Given the description of an element on the screen output the (x, y) to click on. 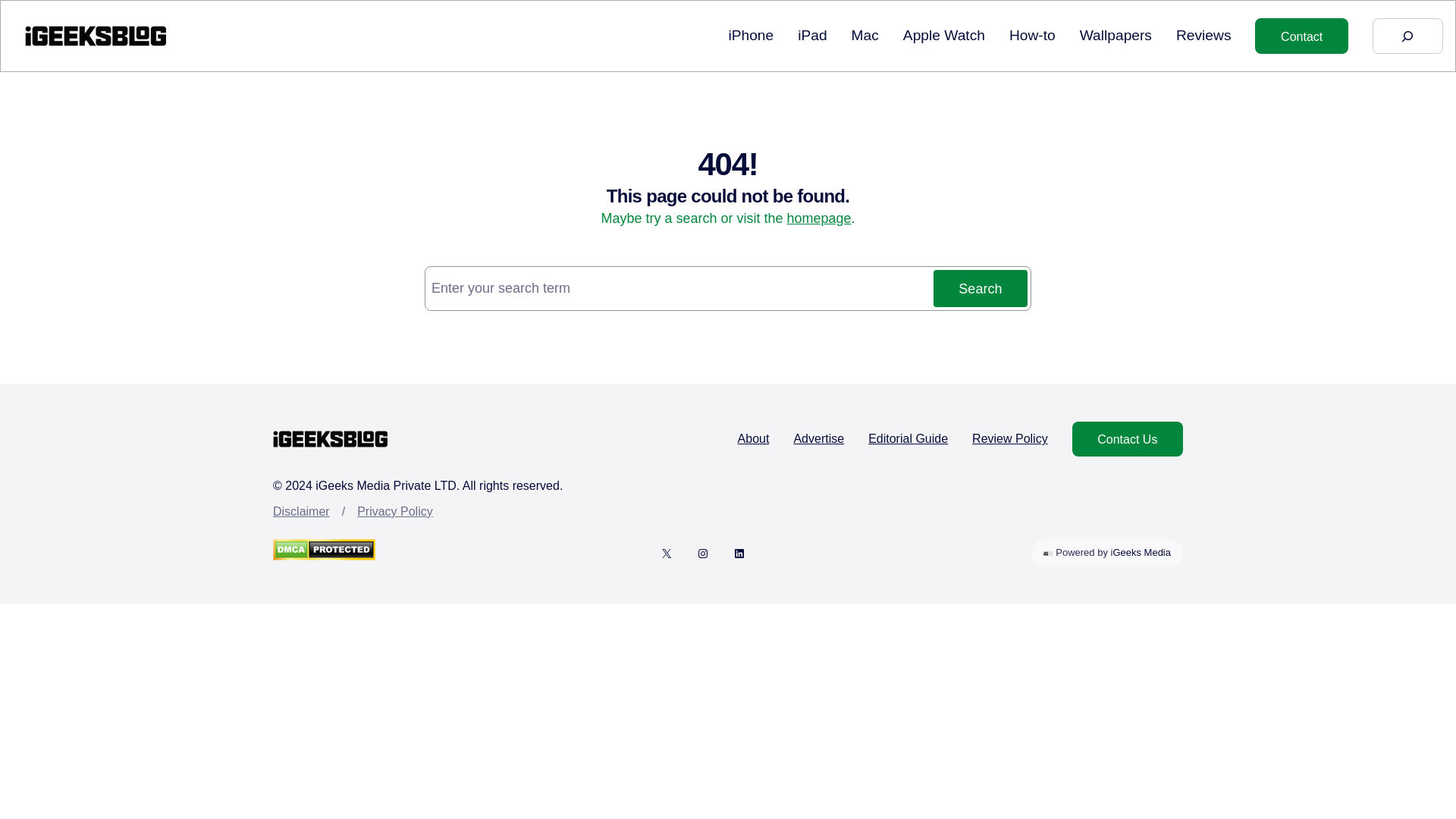
iPhone (750, 35)
LinkedIn (739, 553)
Mac (865, 35)
Disclaimer (301, 511)
X (666, 553)
Apple Watch (1106, 552)
Wallpapers (943, 35)
Review Policy (1115, 35)
Search (1010, 438)
